Given the description of an element on the screen output the (x, y) to click on. 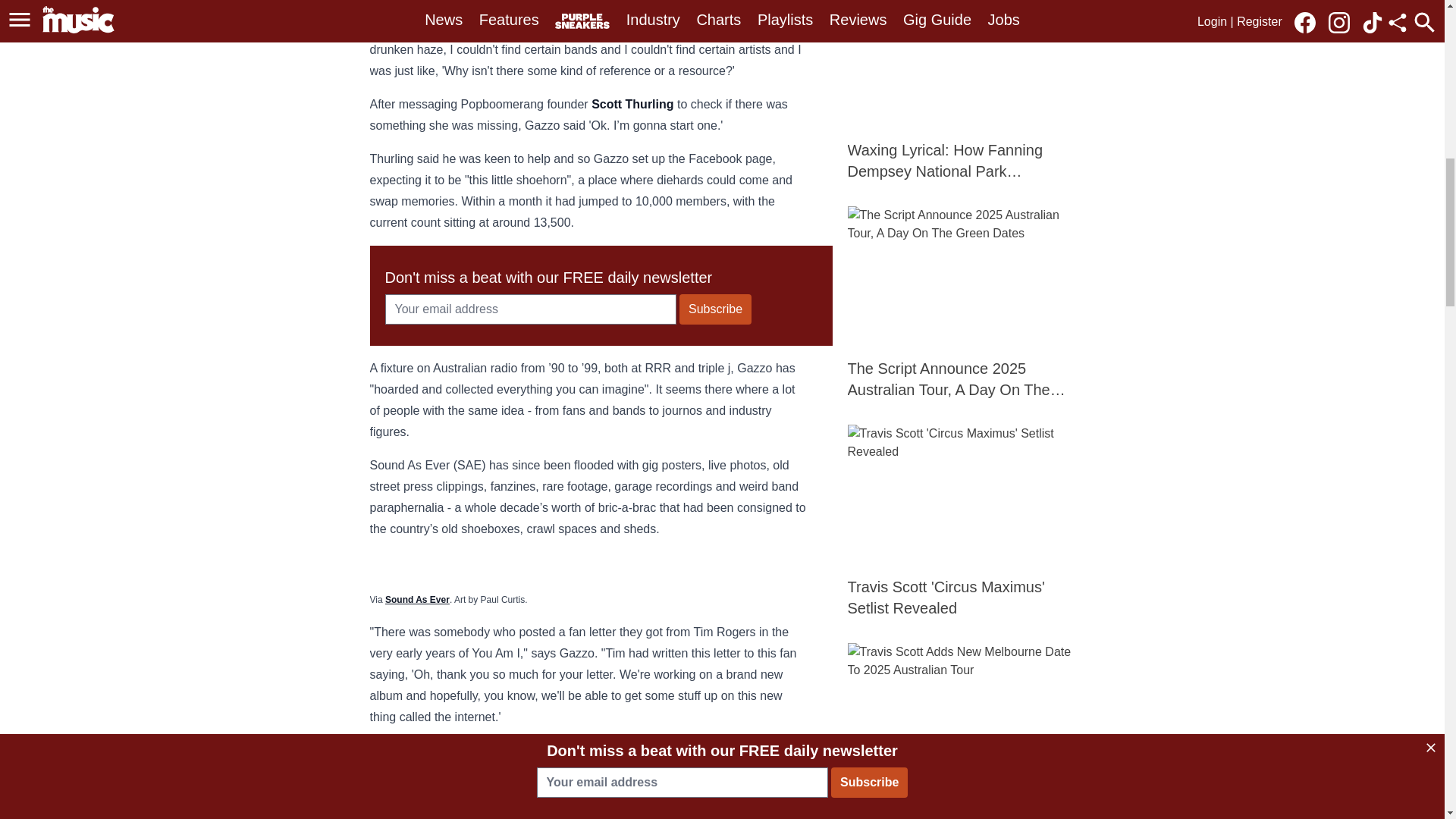
Travis Scott 'Circus Maximus' Setlist Revealed (961, 522)
Travis Scott Adds New Melbourne Date To 2025 Australian Tour (961, 730)
Sound As Ever (417, 598)
Subscribe (715, 309)
